Given the description of an element on the screen output the (x, y) to click on. 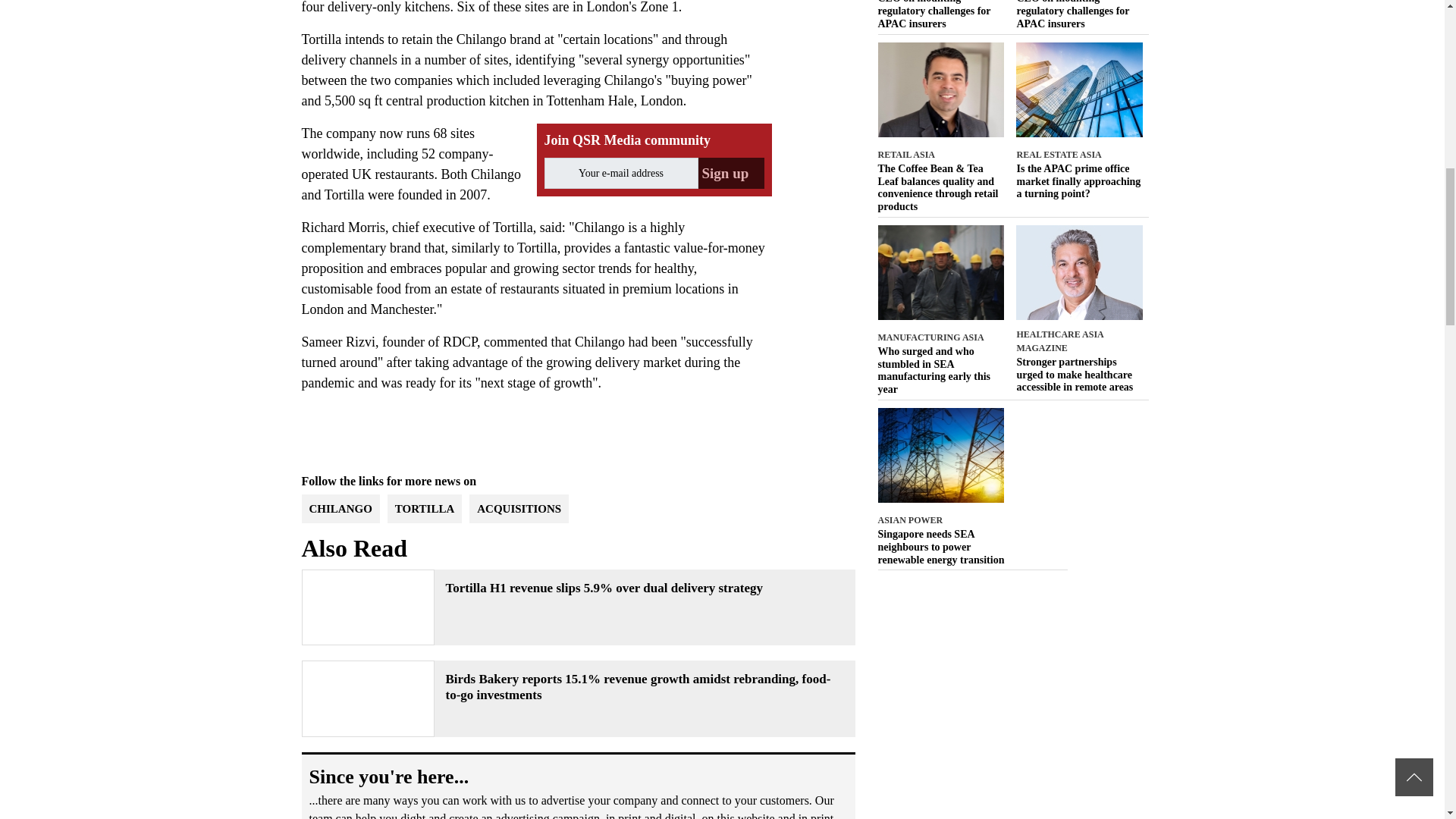
Sign up (729, 173)
CEO on mounting regulatory challenges for APAC insurers (940, 15)
Please enter a valid email (621, 173)
CEO on mounting regulatory challenges for APAC insurers (1079, 15)
